Given the description of an element on the screen output the (x, y) to click on. 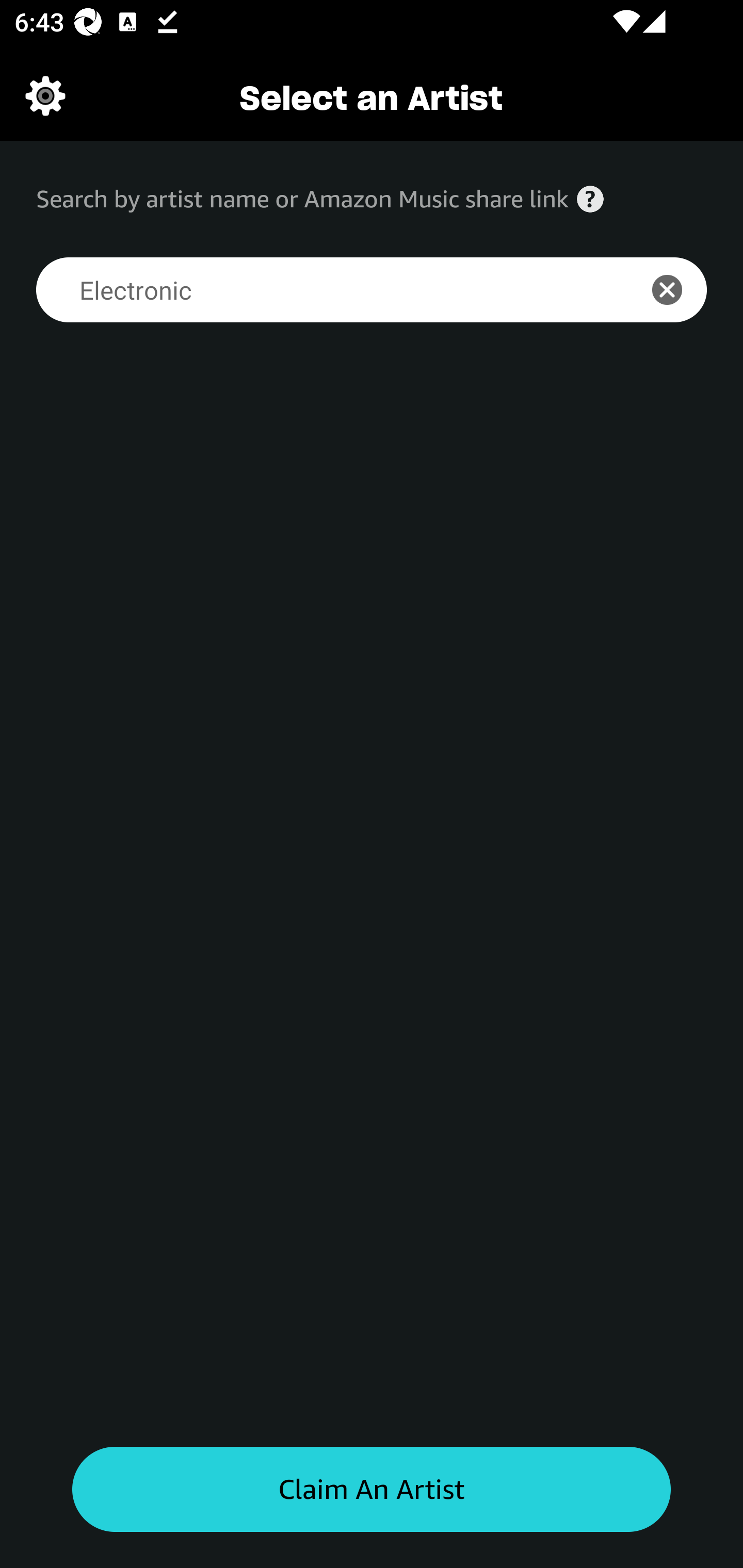
Help  icon (589, 199)
Electronic Search for an artist search bar (324, 290)
 icon (677, 290)
Claim an artist button Claim An Artist (371, 1489)
